Given the description of an element on the screen output the (x, y) to click on. 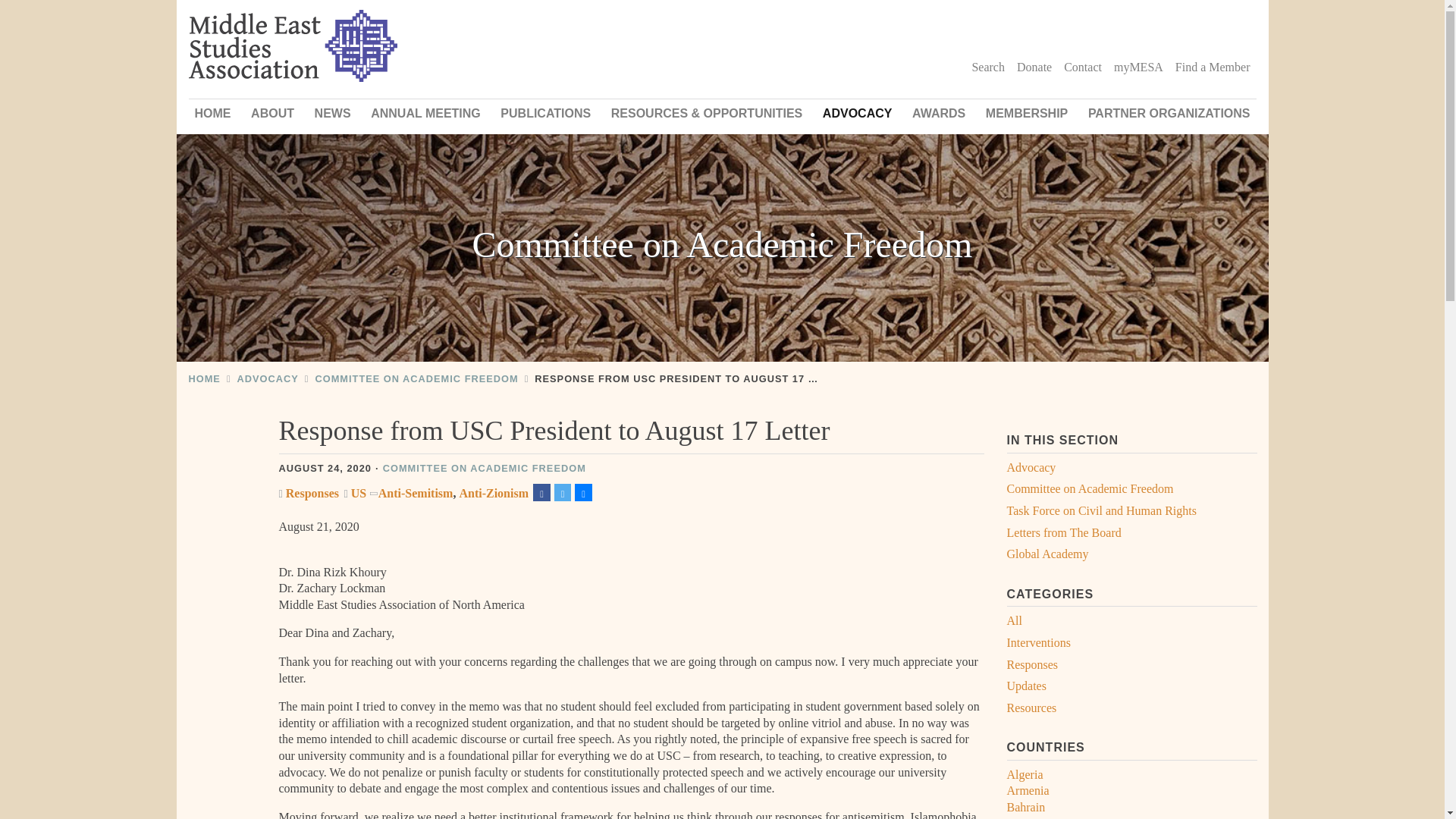
Find a Member (1212, 67)
myMESA (1138, 67)
NEWS (332, 113)
HOME (211, 113)
Search (987, 67)
Donate (1034, 67)
ANNUAL MEETING (425, 113)
ABOUT (271, 113)
Contact (1083, 67)
